Given the description of an element on the screen output the (x, y) to click on. 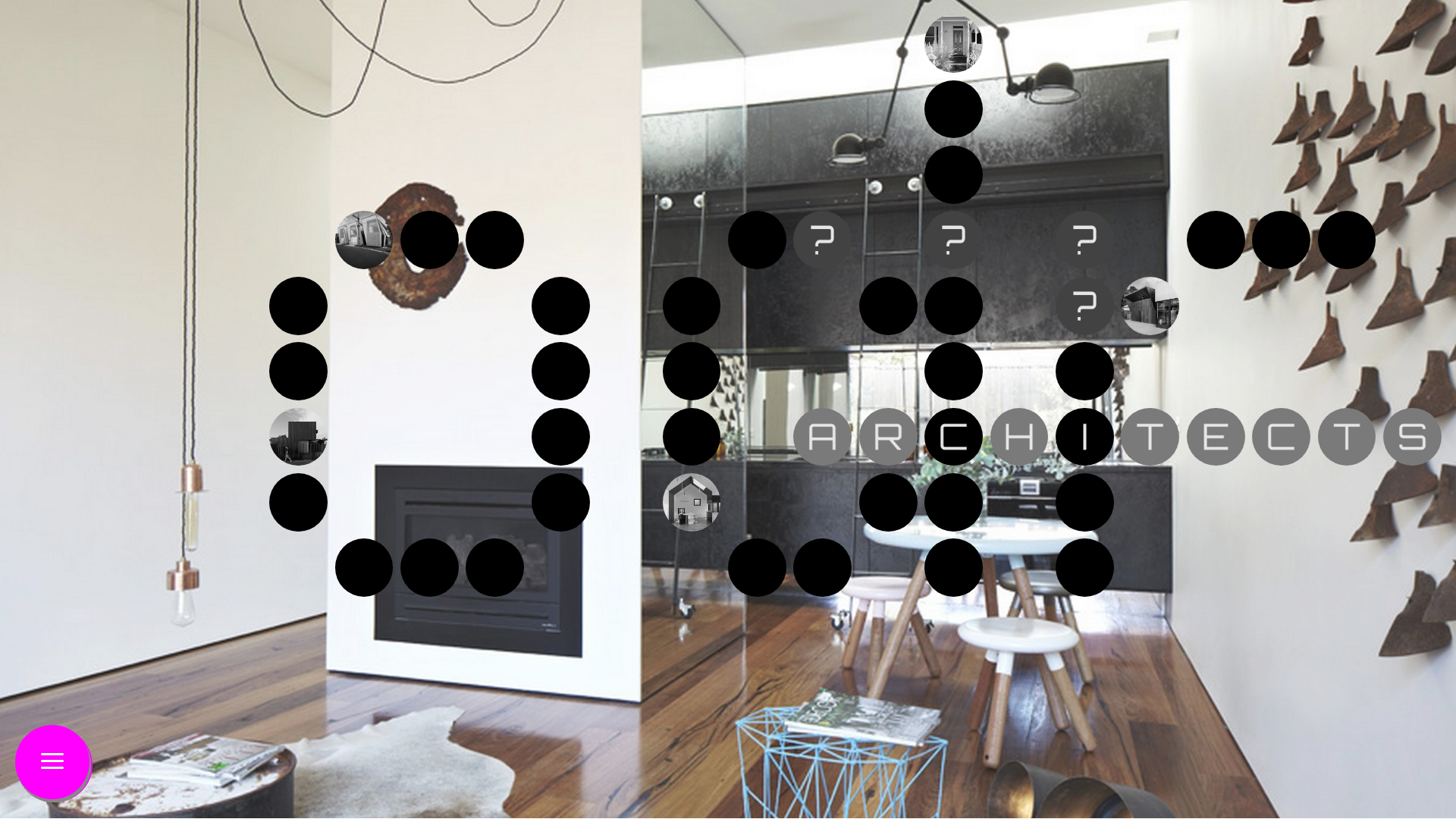
Bright Brewery Element type: hover (1149, 305)
Lily Element type: hover (298, 436)
Hunter Street Element type: hover (364, 239)
Coming Soon Element type: hover (822, 239)
Hardiman Element type: hover (953, 43)
Coming Soon Element type: hover (1084, 239)
Coming Soon Element type: hover (1084, 305)
Coming Soon Element type: hover (953, 239)
Erval Element type: hover (691, 502)
